Given the description of an element on the screen output the (x, y) to click on. 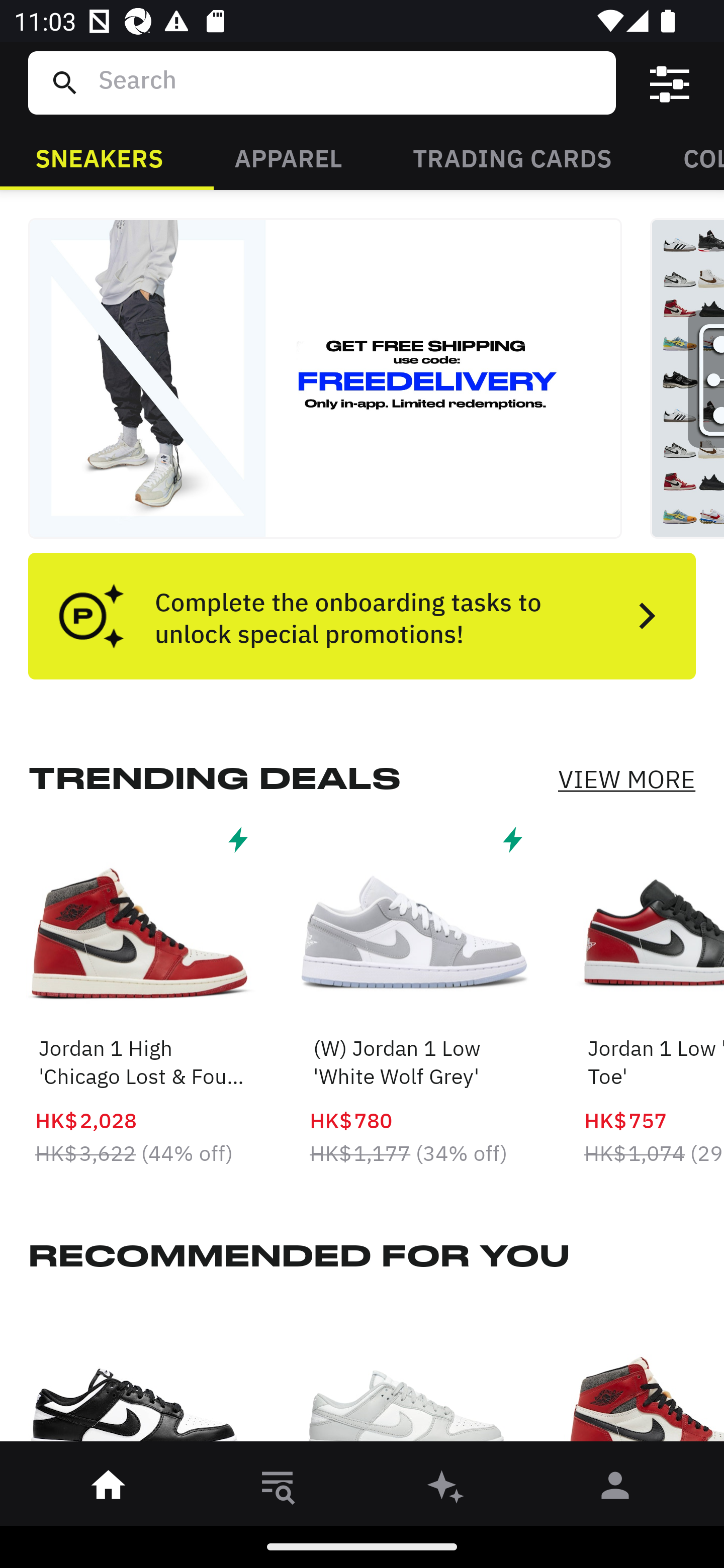
Search (349, 82)
 (669, 82)
SNEAKERS (99, 156)
APPAREL (287, 156)
TRADING CARDS (512, 156)
VIEW MORE (626, 779)
󰋜 (108, 1488)
󱎸 (277, 1488)
󰫢 (446, 1488)
󰀄 (615, 1488)
